Given the description of an element on the screen output the (x, y) to click on. 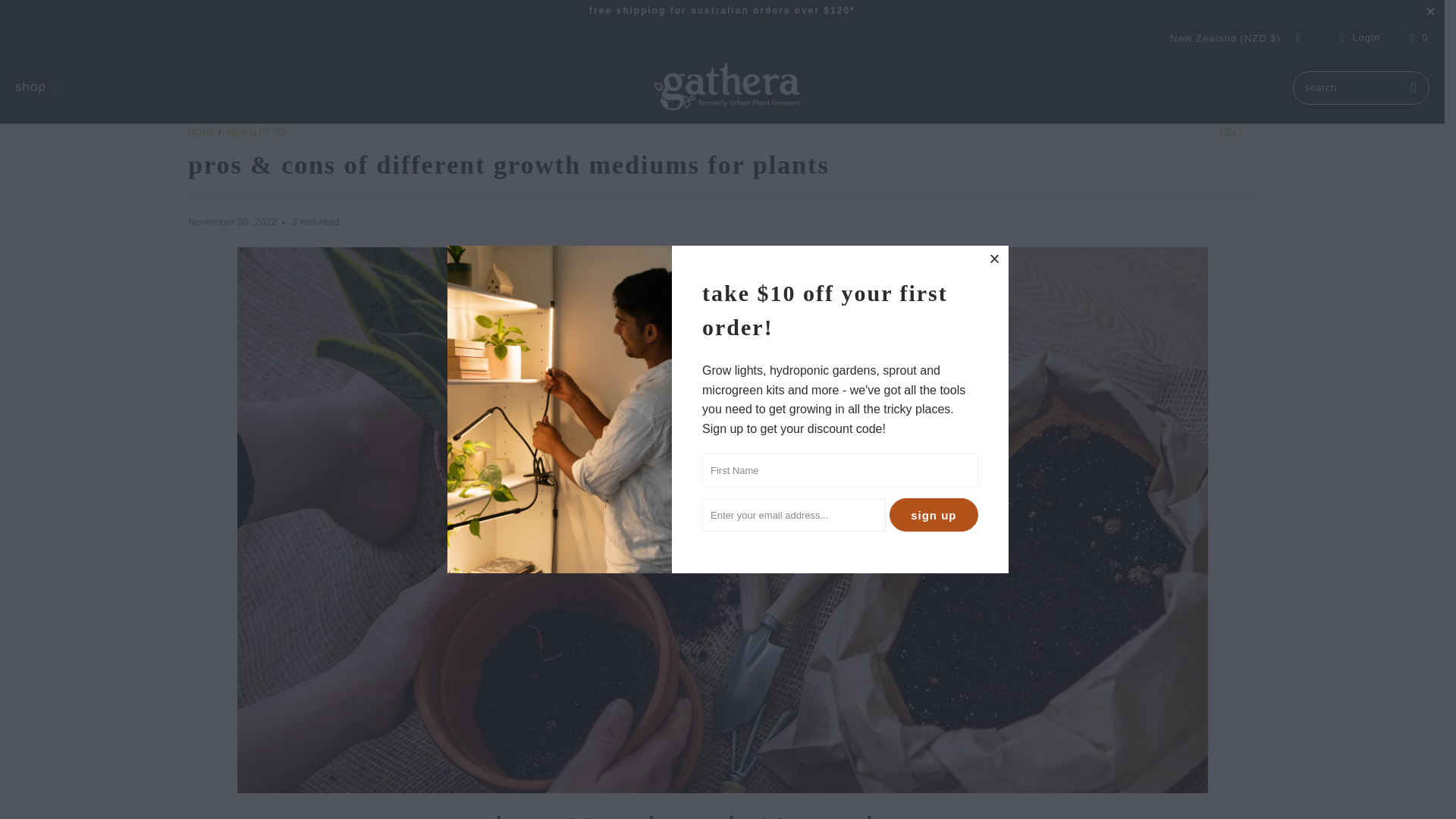
gathera (201, 132)
gathera (727, 88)
Newsletter (257, 132)
Sign Up (933, 514)
My Account  (1357, 37)
